Given the description of an element on the screen output the (x, y) to click on. 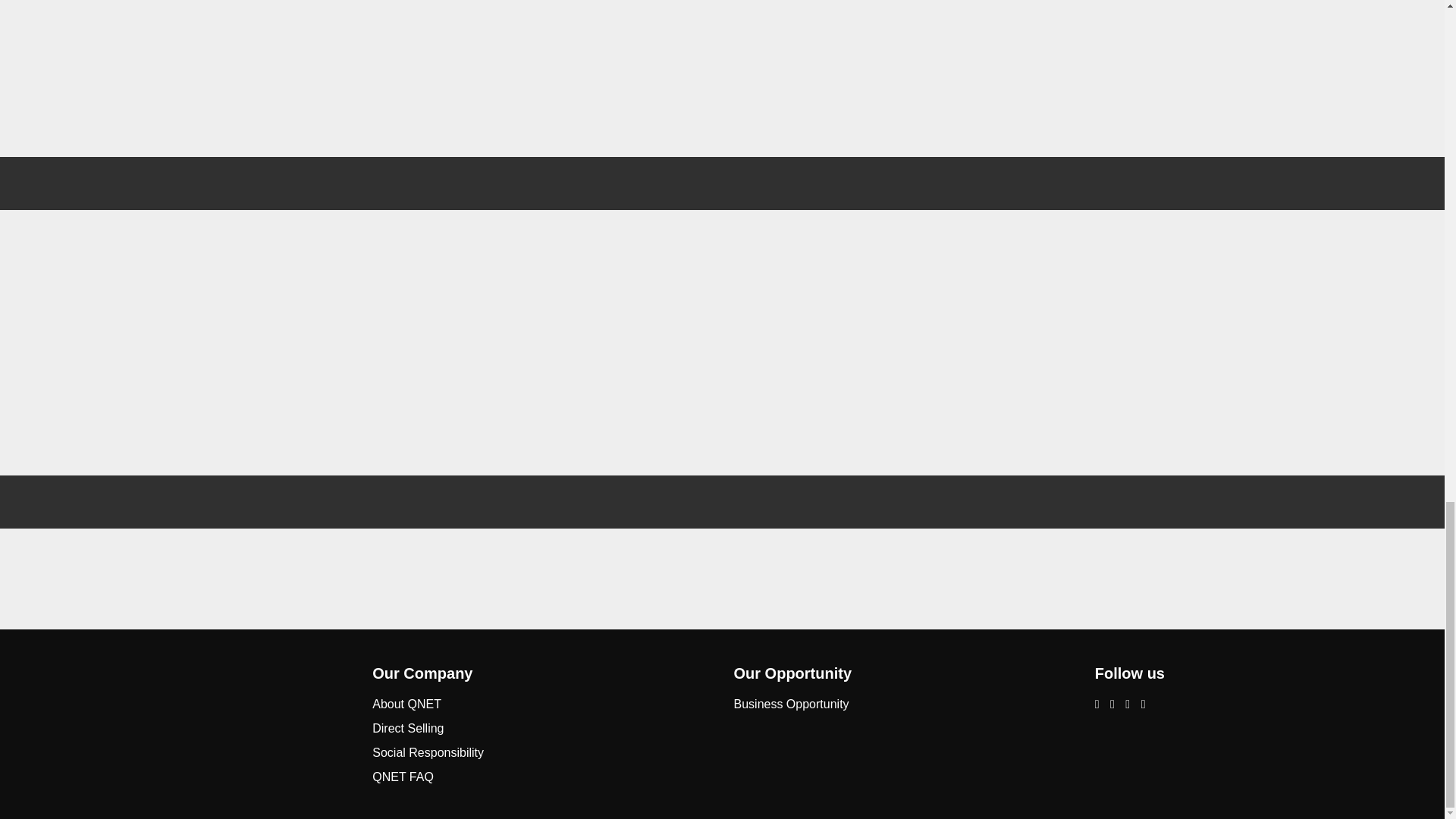
Business Opportunity (790, 703)
About QNET (406, 703)
Social Responsibility (427, 752)
Direct Selling (408, 727)
QNET FAQ (402, 776)
